Given the description of an element on the screen output the (x, y) to click on. 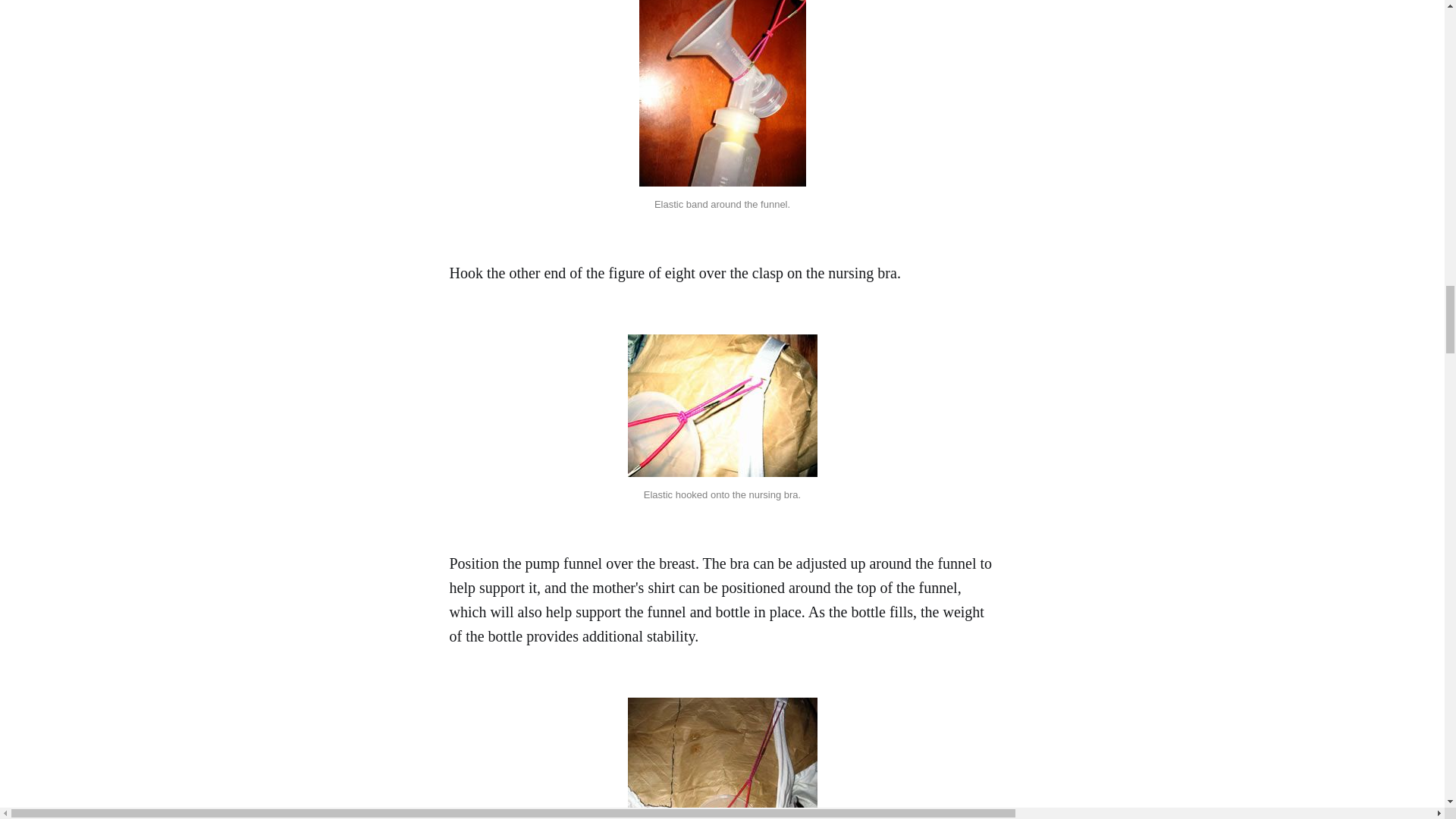
make a breast pump bra (721, 405)
breast pumpping bra (721, 758)
make a breast pump bra - breast pumps (722, 93)
